Given the description of an element on the screen output the (x, y) to click on. 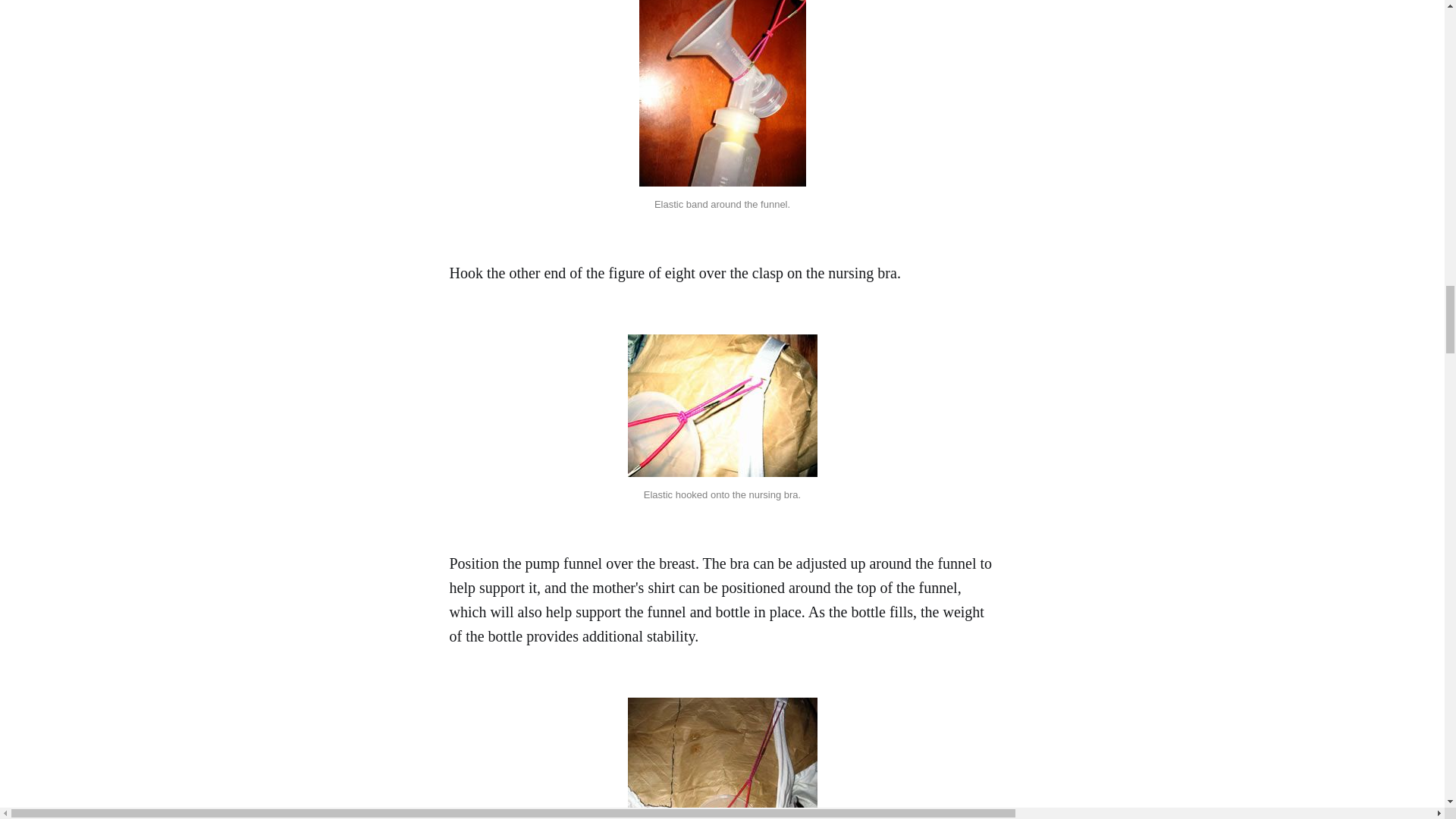
make a breast pump bra (721, 405)
breast pumpping bra (721, 758)
make a breast pump bra - breast pumps (722, 93)
